Given the description of an element on the screen output the (x, y) to click on. 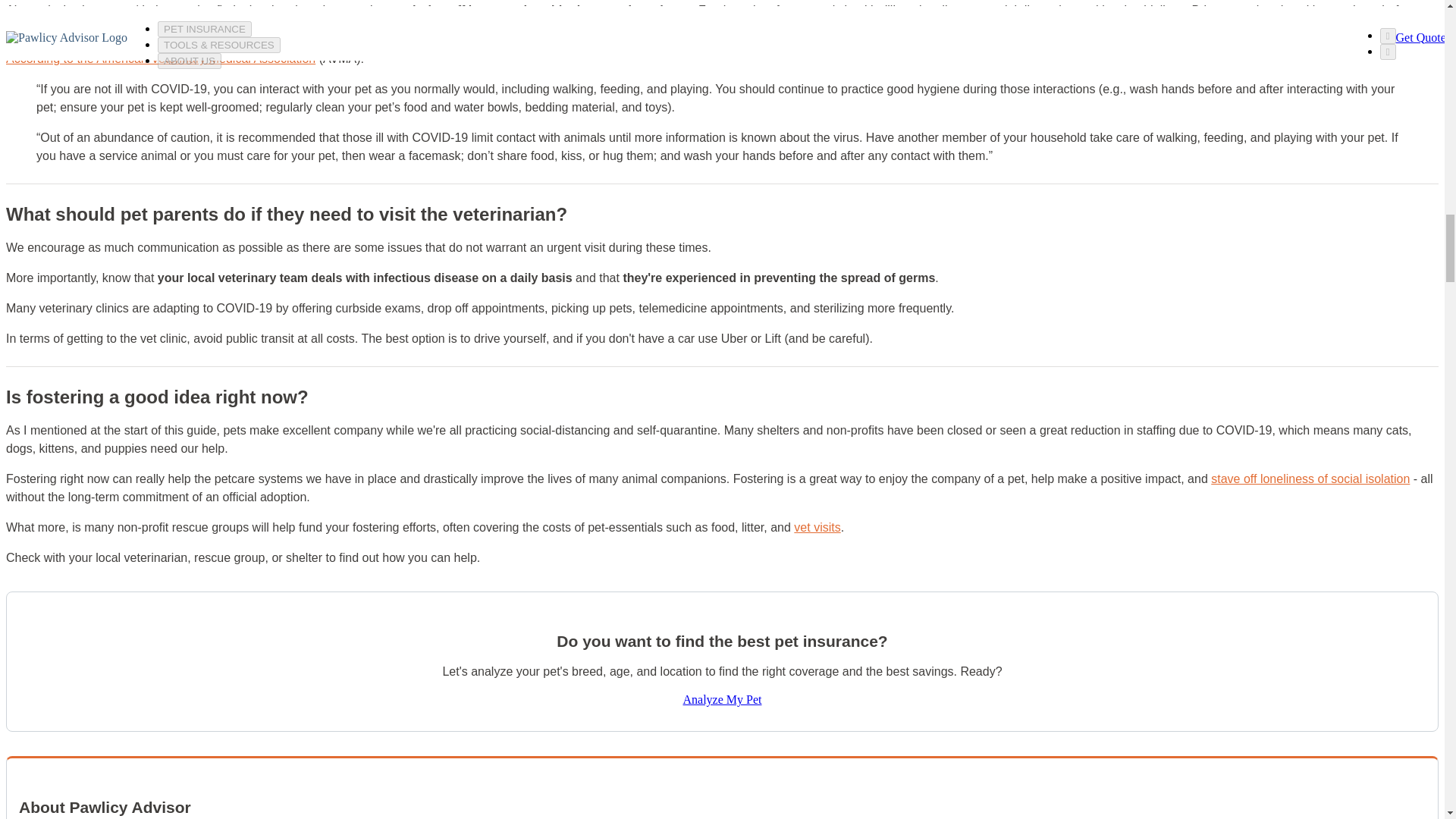
Analyze My Pet (721, 698)
According to the American Veterinary Medical Association (160, 58)
vet visits (816, 526)
stave off loneliness of social isolation (1310, 478)
